Given the description of an element on the screen output the (x, y) to click on. 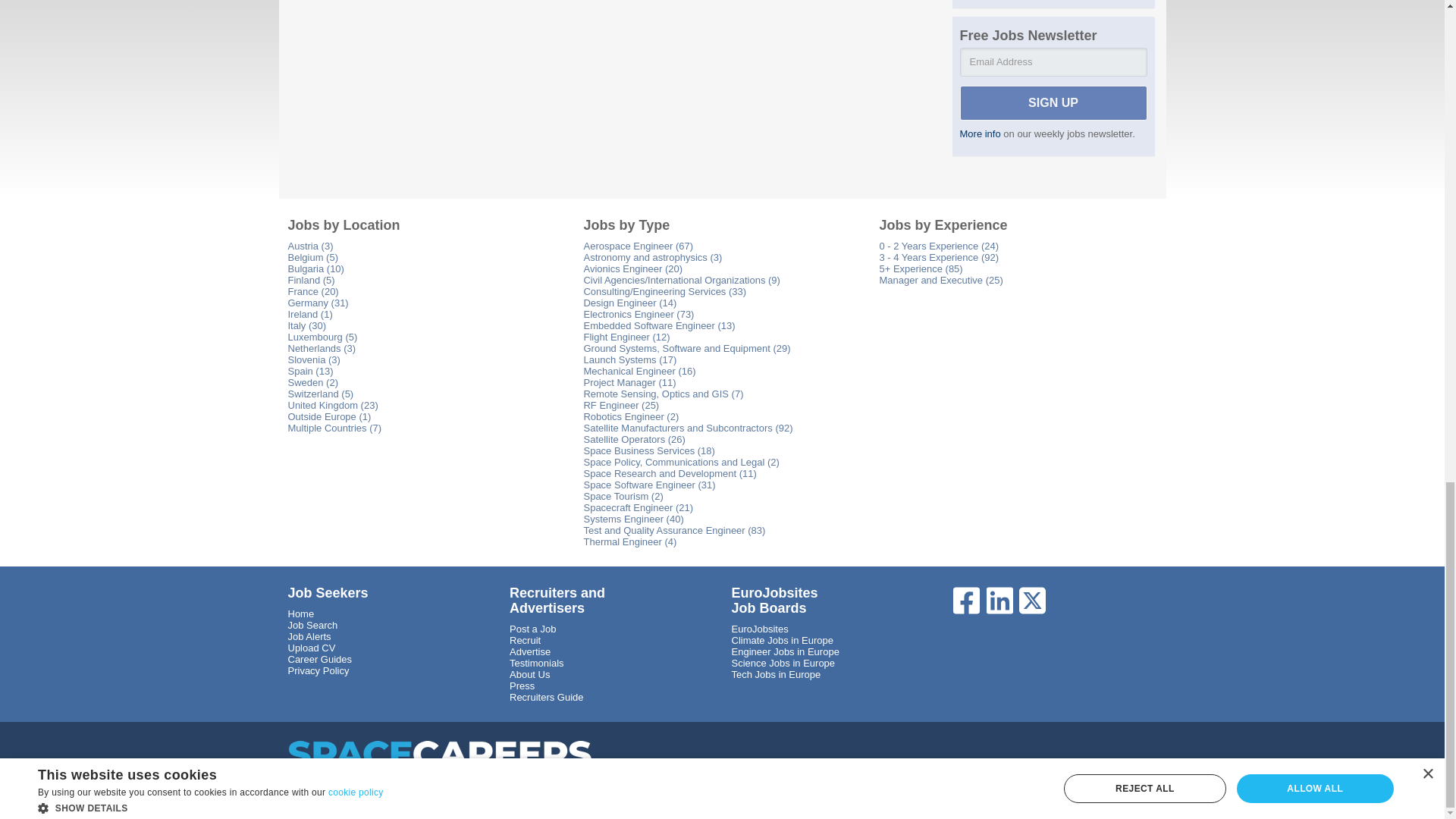
Search for EU Jobs (312, 624)
Space Industry Jobs (301, 613)
SIGN UP (1053, 102)
